Given the description of an element on the screen output the (x, y) to click on. 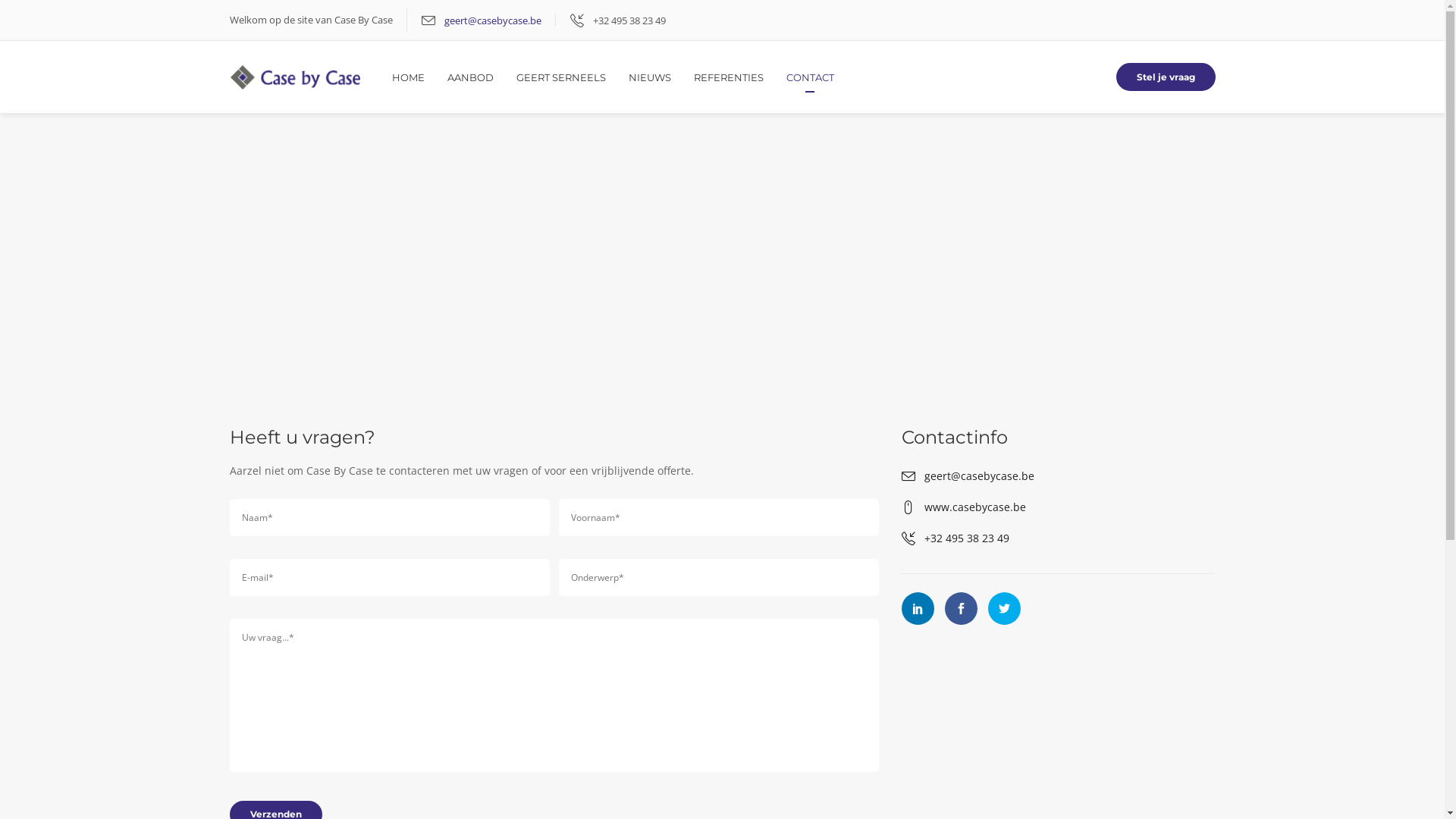
Stel je vraag Element type: text (1165, 76)
geert@casebycase.be Element type: text (492, 20)
CONTACT Element type: text (810, 76)
AANBOD Element type: text (481, 76)
GEERT SERNEELS Element type: text (572, 76)
HOME Element type: text (419, 76)
REFERENTIES Element type: text (739, 76)
NIEUWS Element type: text (660, 76)
